Given the description of an element on the screen output the (x, y) to click on. 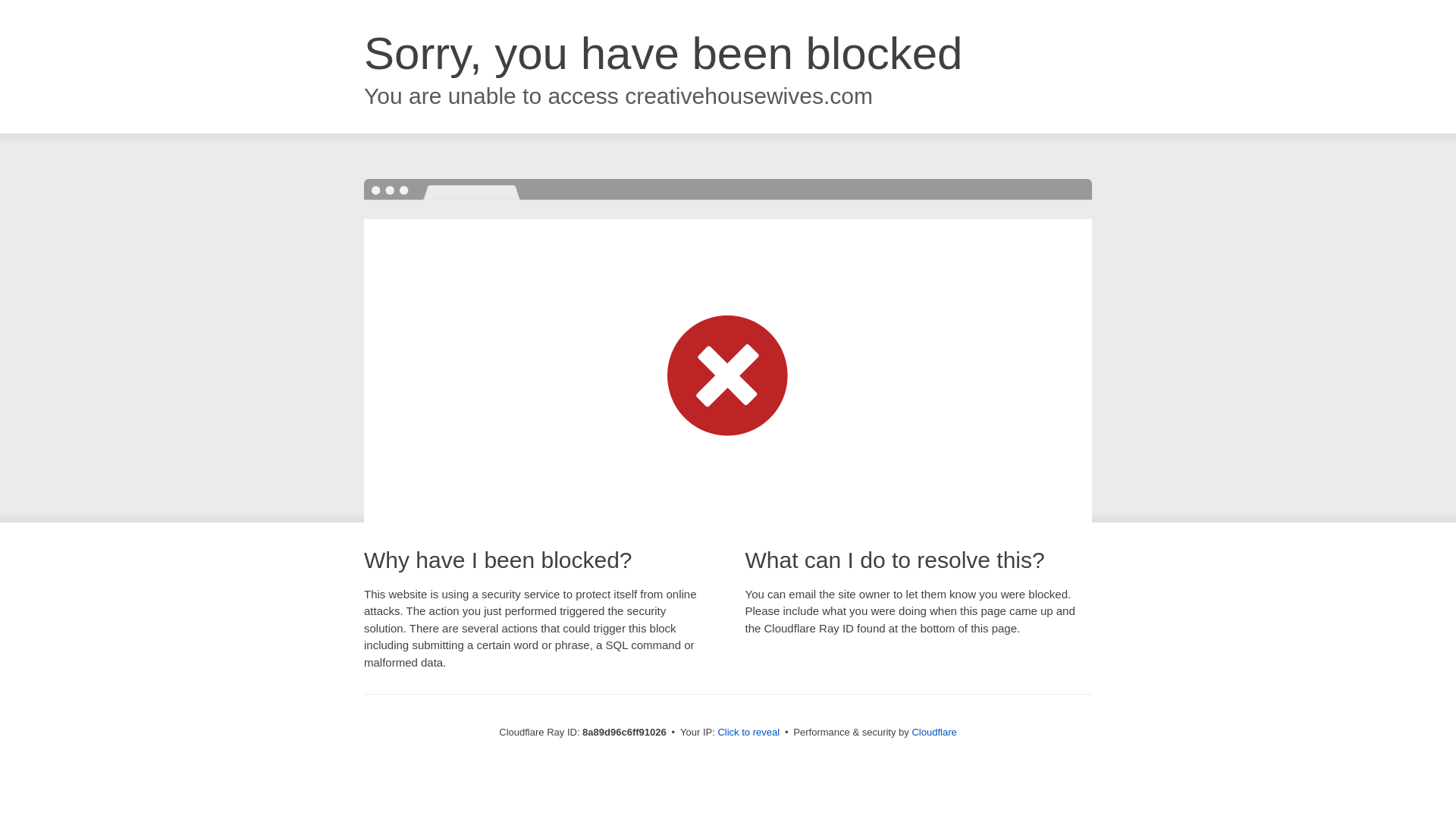
Click to reveal (747, 732)
Cloudflare (933, 731)
